Given the description of an element on the screen output the (x, y) to click on. 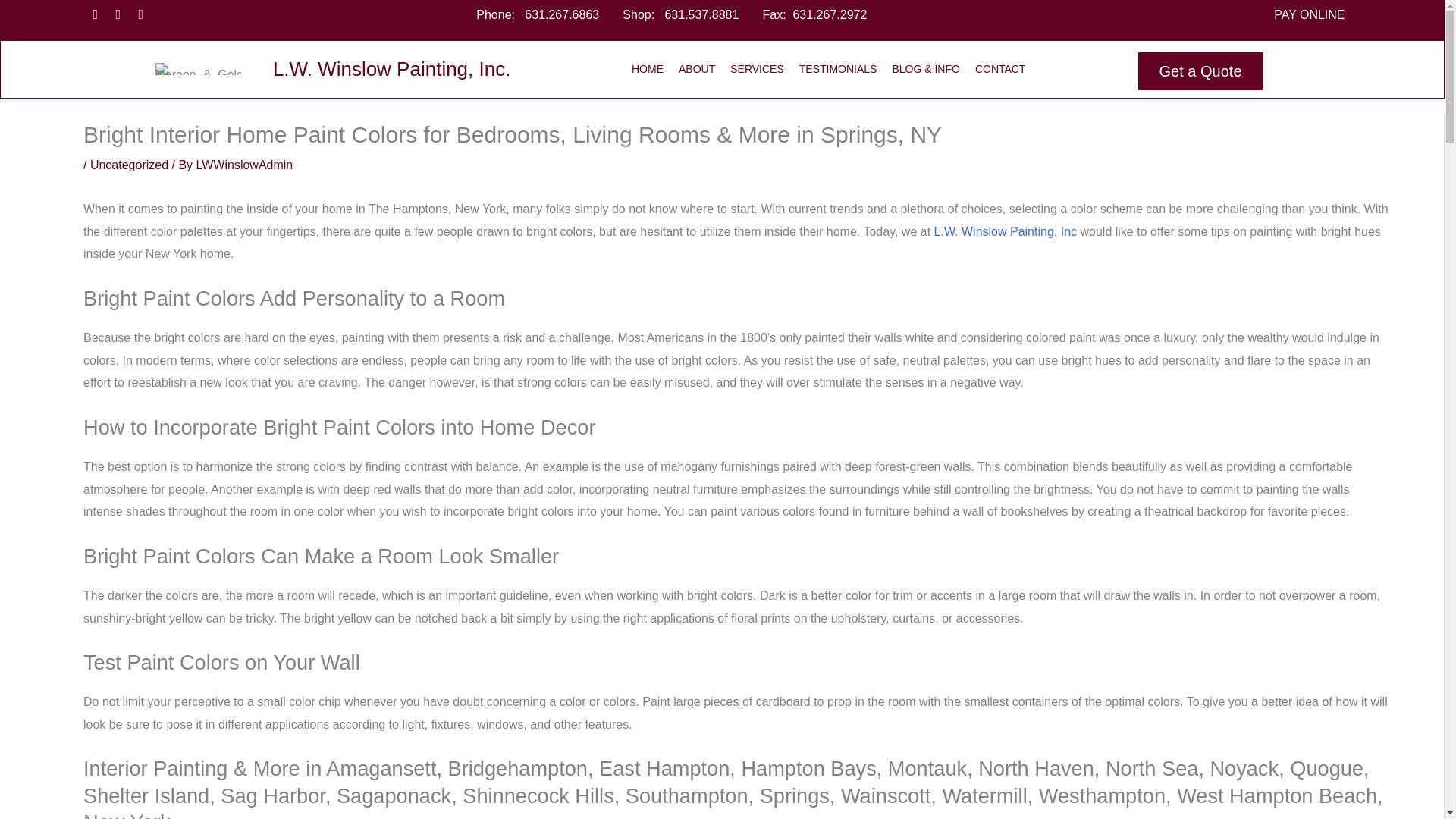
HOME (646, 68)
631.267.6863 (561, 14)
L.W. Winslow Painting, Inc. (392, 68)
ABOUT (697, 68)
SERVICES (756, 68)
View all posts by LWWinslowAdmin (245, 164)
Pay My Invoice (747, 314)
631.537.8881 (700, 14)
TESTIMONIALS (837, 68)
L.W. Winslow Painting, Inc. (392, 68)
Click Here (1200, 71)
CONTACT (1000, 68)
